Given the description of an element on the screen output the (x, y) to click on. 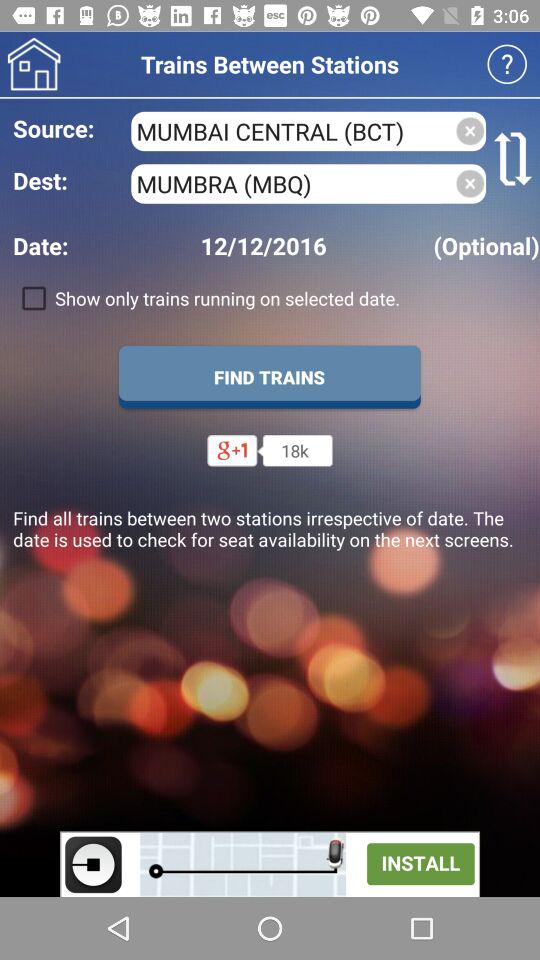
rotate search (513, 159)
